Given the description of an element on the screen output the (x, y) to click on. 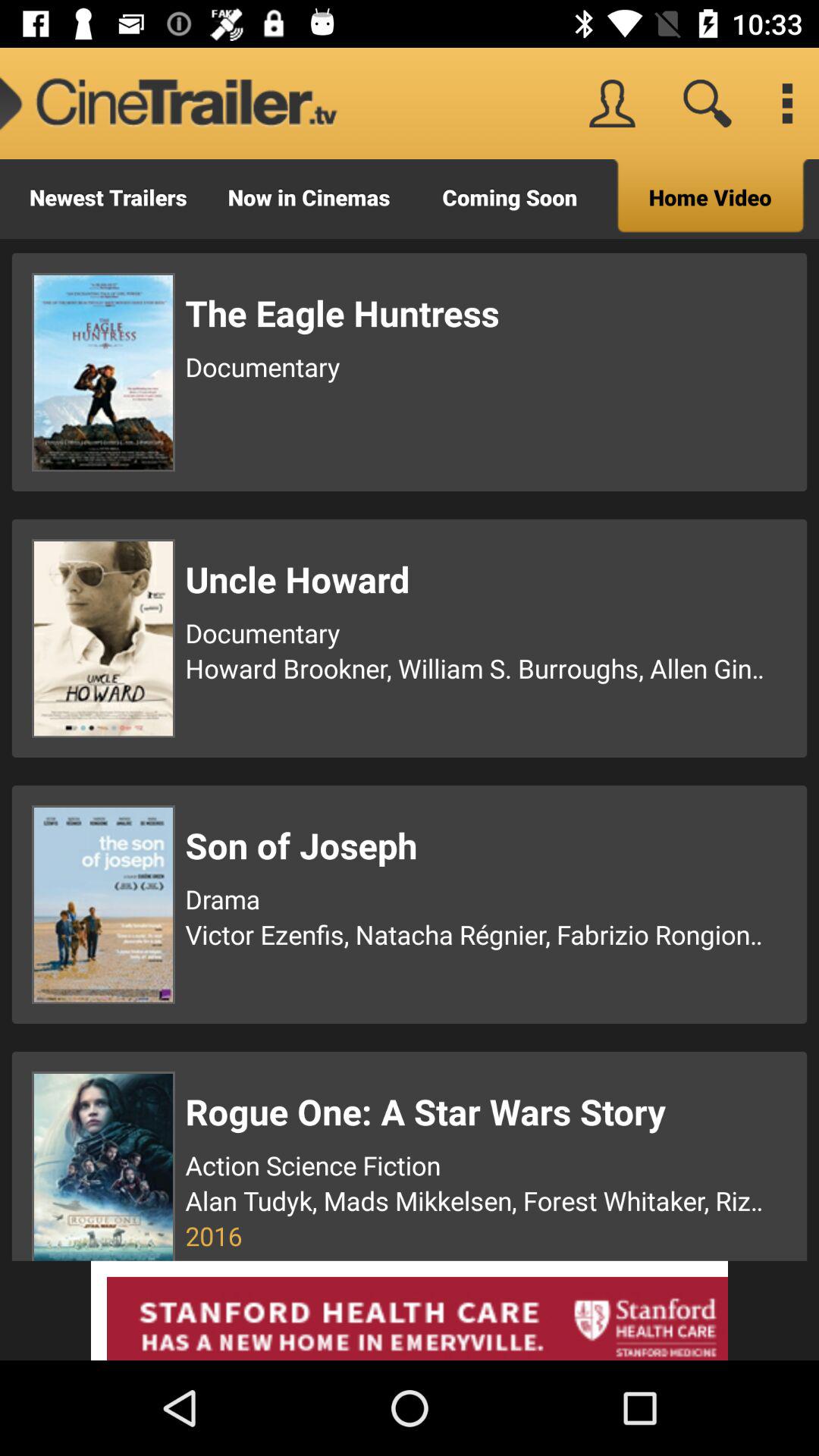
scroll to action science fiction (476, 1165)
